Given the description of an element on the screen output the (x, y) to click on. 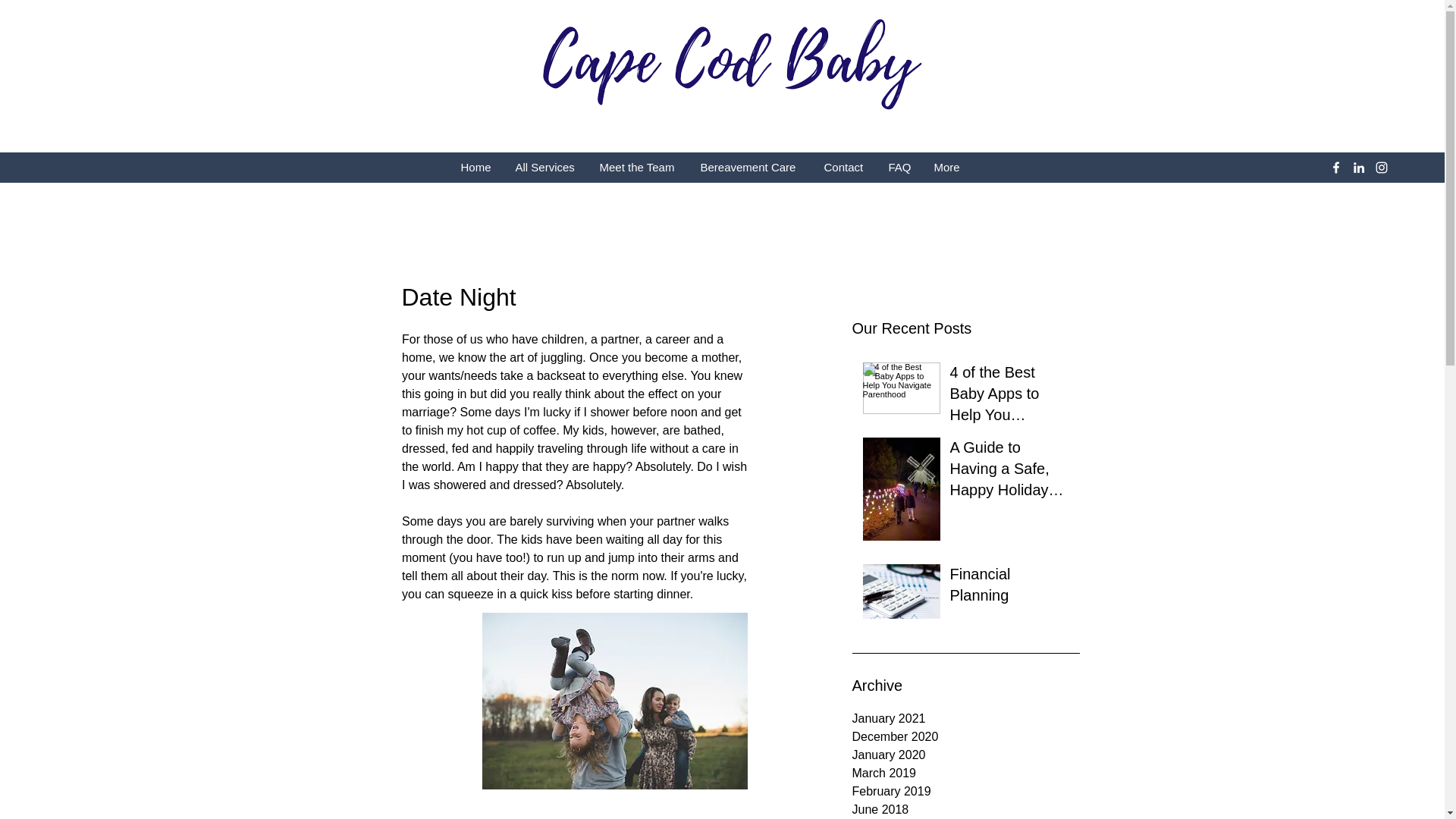
Financial Planning (1009, 587)
FAQ (898, 167)
March 2019 (965, 773)
A Guide to Having a Safe, Happy Holiday Season in 2020 (1009, 471)
Home (475, 167)
Contact (844, 167)
January 2021 (965, 719)
June 2018 (965, 809)
4 of the Best Baby Apps to Help You Navigate Parenthood (1009, 396)
December 2020 (965, 737)
